Given the description of an element on the screen output the (x, y) to click on. 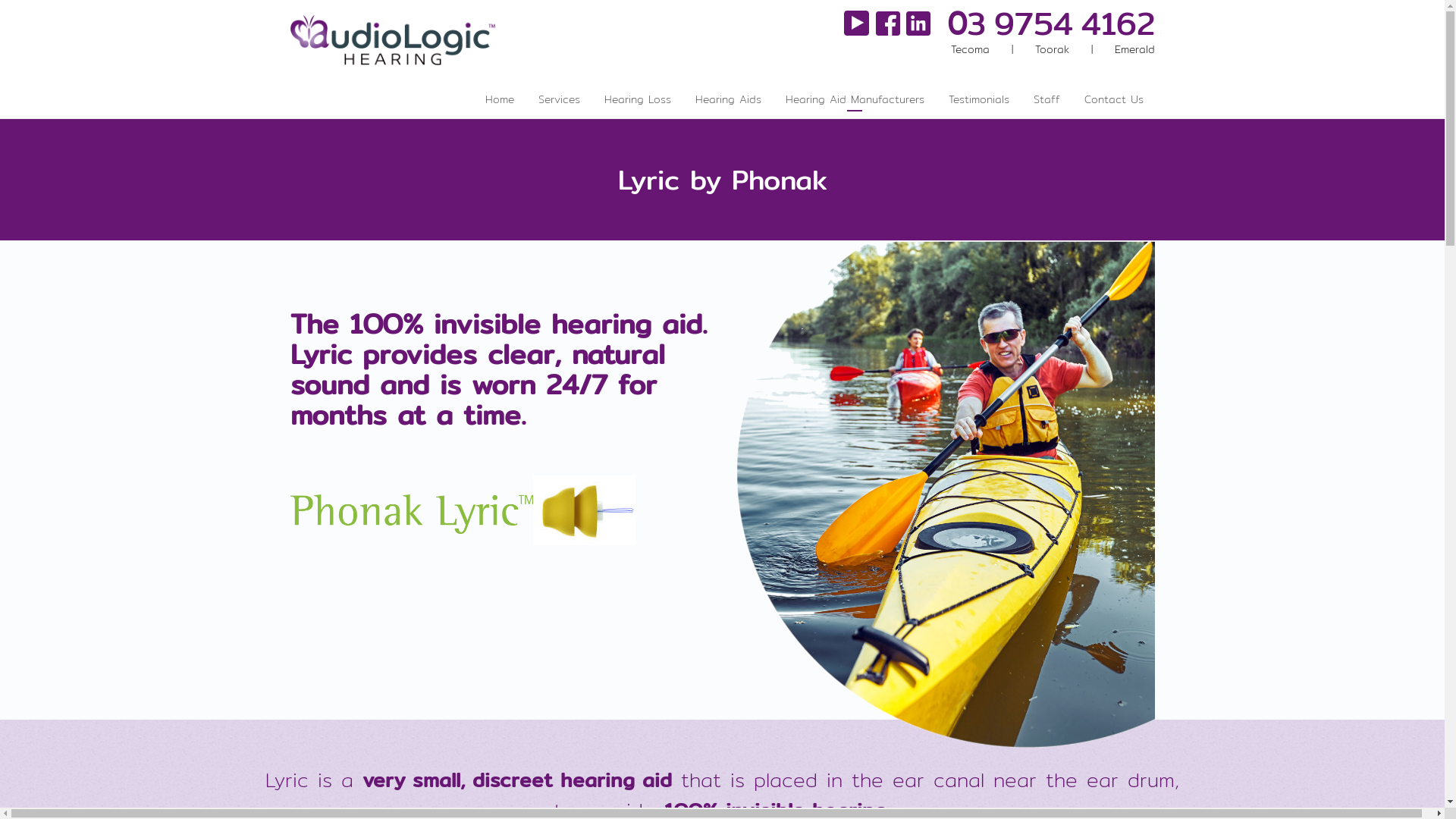
Testimonials Element type: text (978, 99)
Home Element type: text (498, 99)
Hearing Loss Element type: text (637, 99)
Hearing Aid Manufacturers Element type: text (854, 99)
Staff Element type: text (1046, 99)
Services Element type: text (558, 99)
Hearing Aids Element type: text (728, 99)
Contact Us Element type: text (1113, 99)
